Given the description of an element on the screen output the (x, y) to click on. 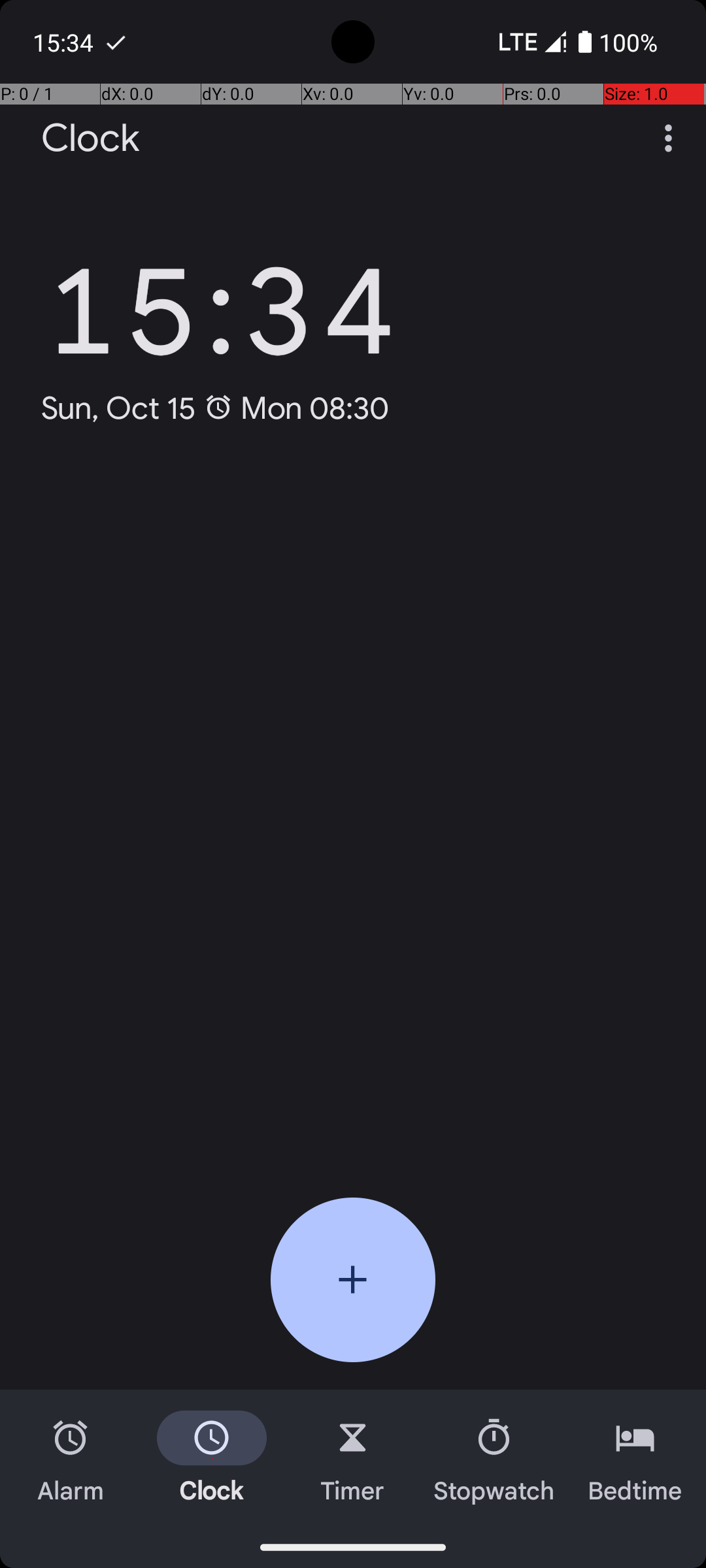
Sun, Oct 15 A Mon 08:30 Element type: android.widget.TextView (215, 407)
